Given the description of an element on the screen output the (x, y) to click on. 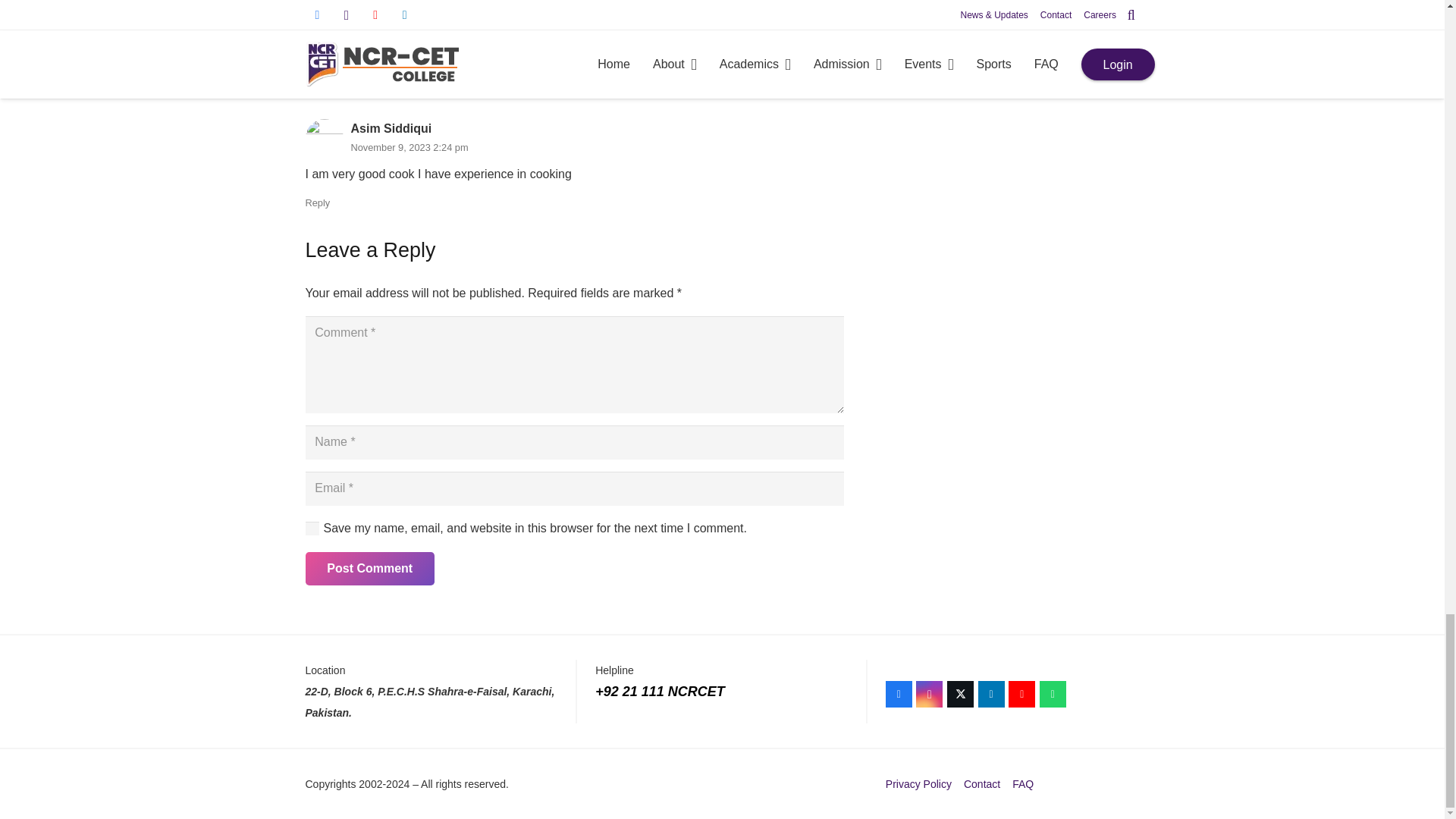
WhatsApp (1052, 693)
YouTube (1022, 693)
Facebook (898, 693)
Instagram (928, 693)
1 (311, 528)
Twitter (960, 693)
LinkedIn (991, 693)
November 9, 2023 2:24 pm (408, 147)
